Given the description of an element on the screen output the (x, y) to click on. 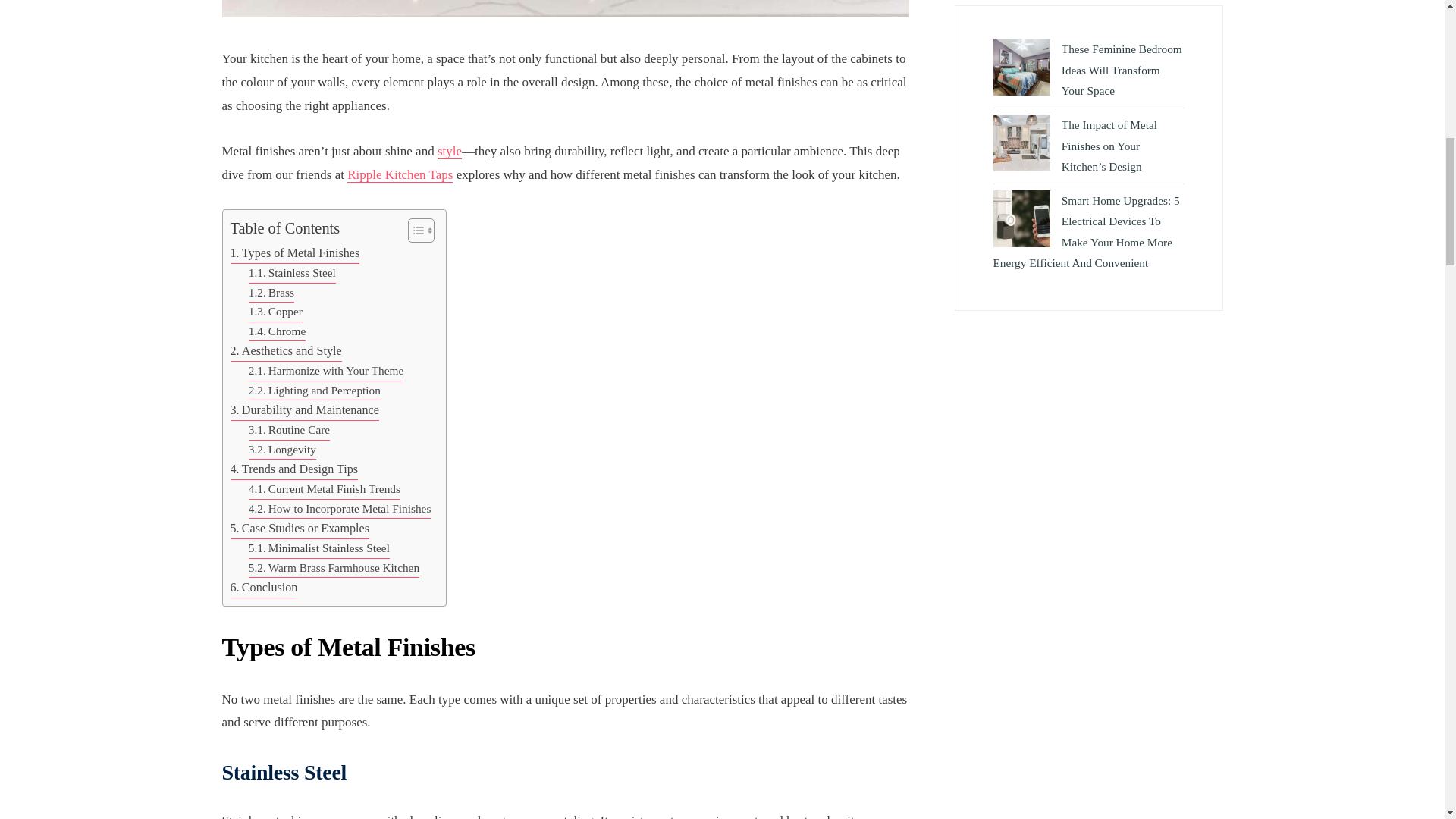
How to Incorporate Metal Finishes (339, 509)
Copper (275, 312)
Routine Care (289, 430)
Durability and Maintenance (304, 410)
Aesthetics and Style (286, 351)
Trends and Design Tips (294, 469)
Brass (271, 293)
Chrome (276, 332)
Aesthetics and Style (286, 351)
Lighting and Perception (314, 391)
Warm Brass Farmhouse Kitchen (333, 568)
Conclusion (264, 588)
Ripple Kitchen Taps (399, 174)
Current Metal Finish Trends (324, 489)
Stainless Steel (292, 273)
